Given the description of an element on the screen output the (x, y) to click on. 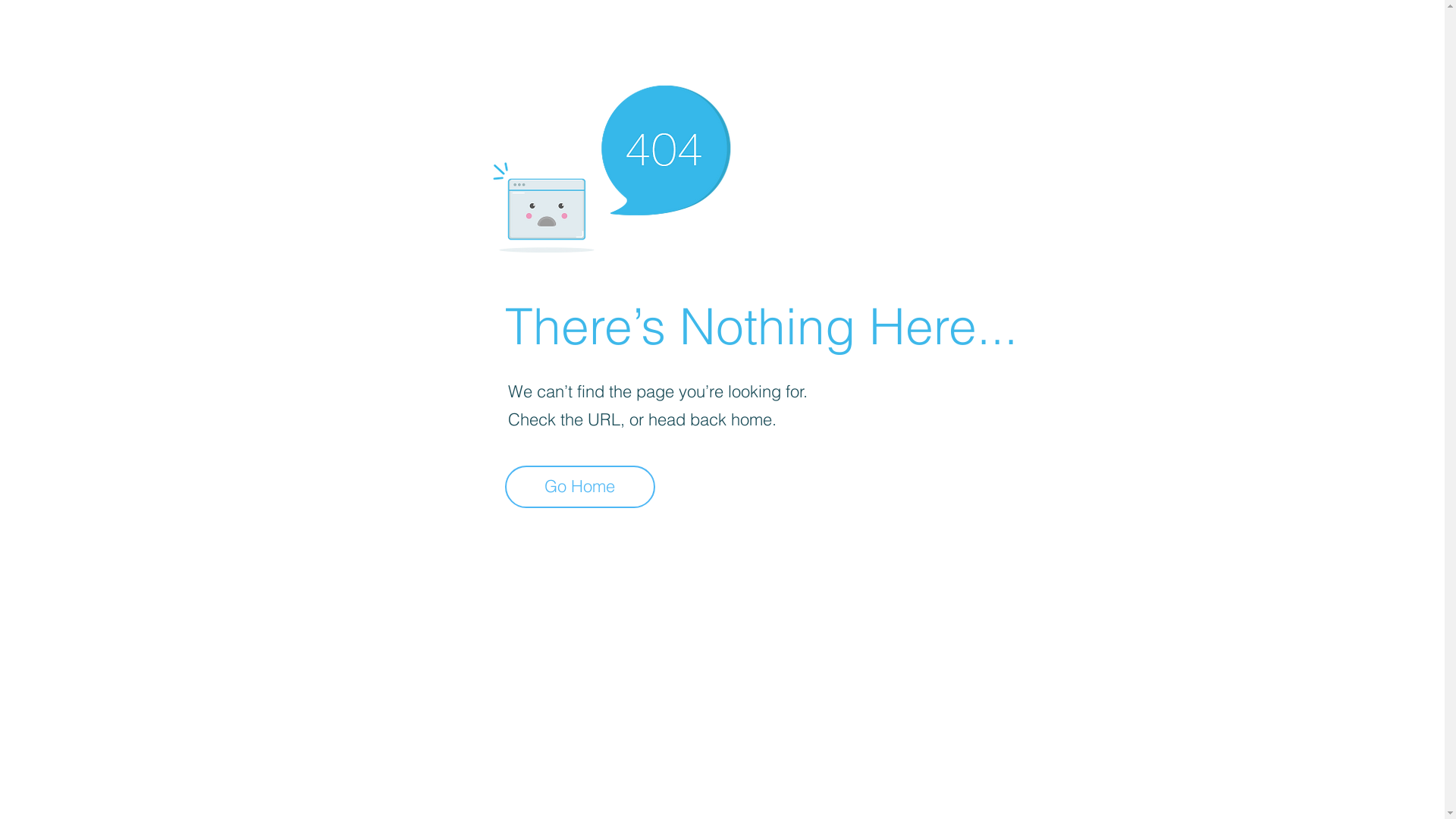
Go Home Element type: text (580, 486)
404-icon_2.png Element type: hover (610, 164)
